Given the description of an element on the screen output the (x, y) to click on. 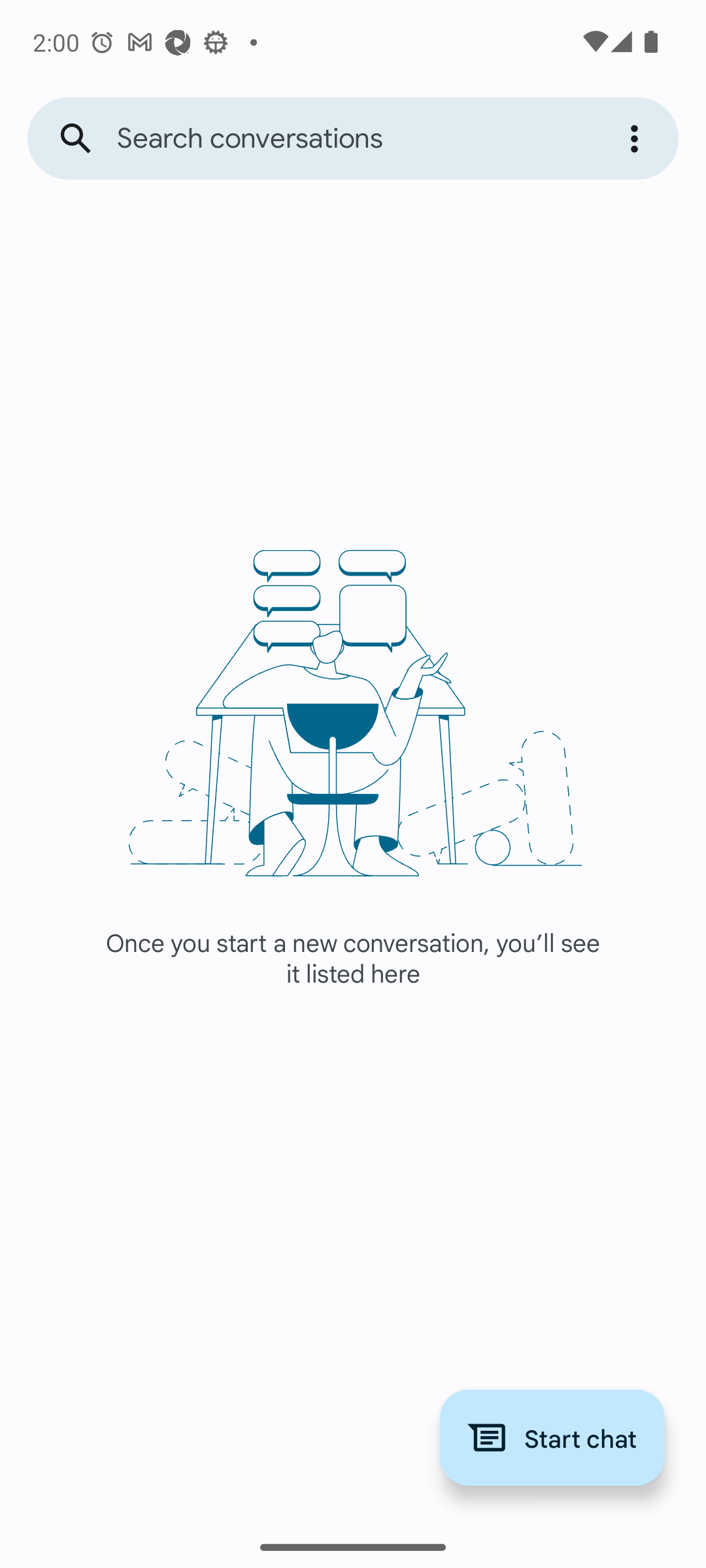
Navigate up (75, 138)
More options (636, 138)
Start chat (552, 1437)
